Given the description of an element on the screen output the (x, y) to click on. 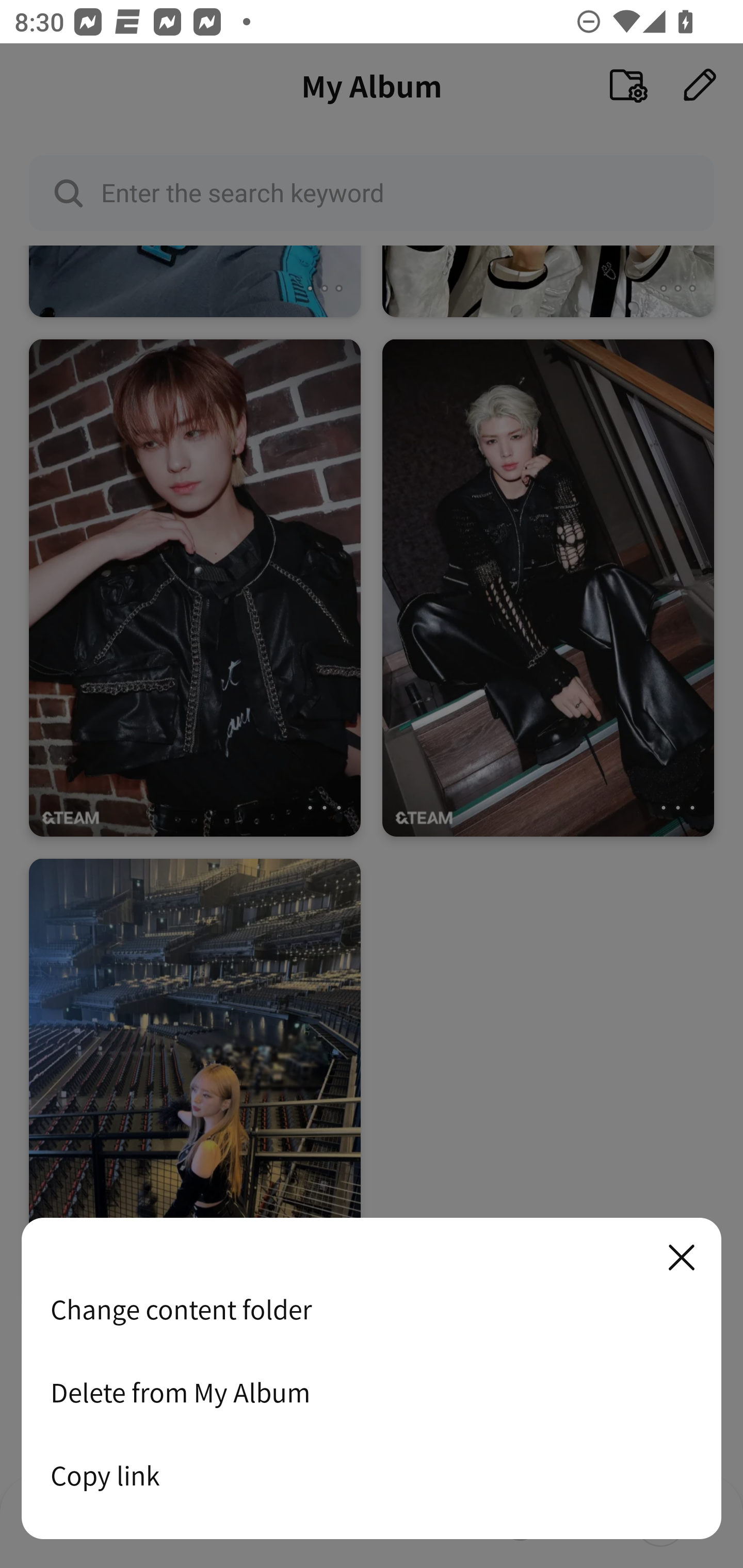
Change content folder (371, 1308)
Delete from My Album (371, 1391)
Copy link (371, 1474)
